Given the description of an element on the screen output the (x, y) to click on. 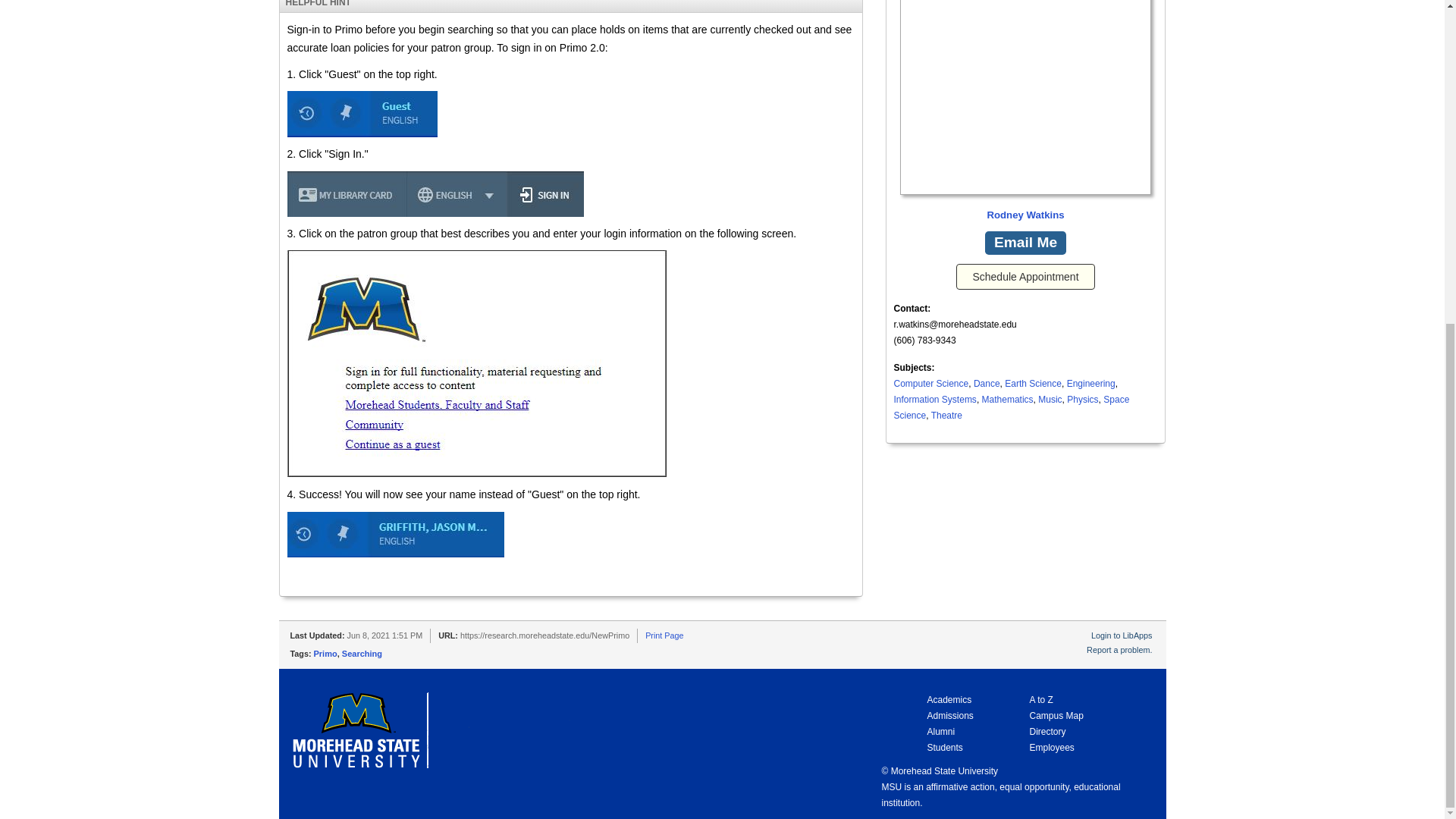
Earth Science (1032, 383)
Music (1049, 398)
Schedule Appointment (1025, 276)
Email Me (1025, 242)
Directory (1047, 731)
Engineering (1091, 383)
A to Z (1040, 699)
Searching (361, 653)
Theatre (946, 415)
Space Science (1011, 406)
